Given the description of an element on the screen output the (x, y) to click on. 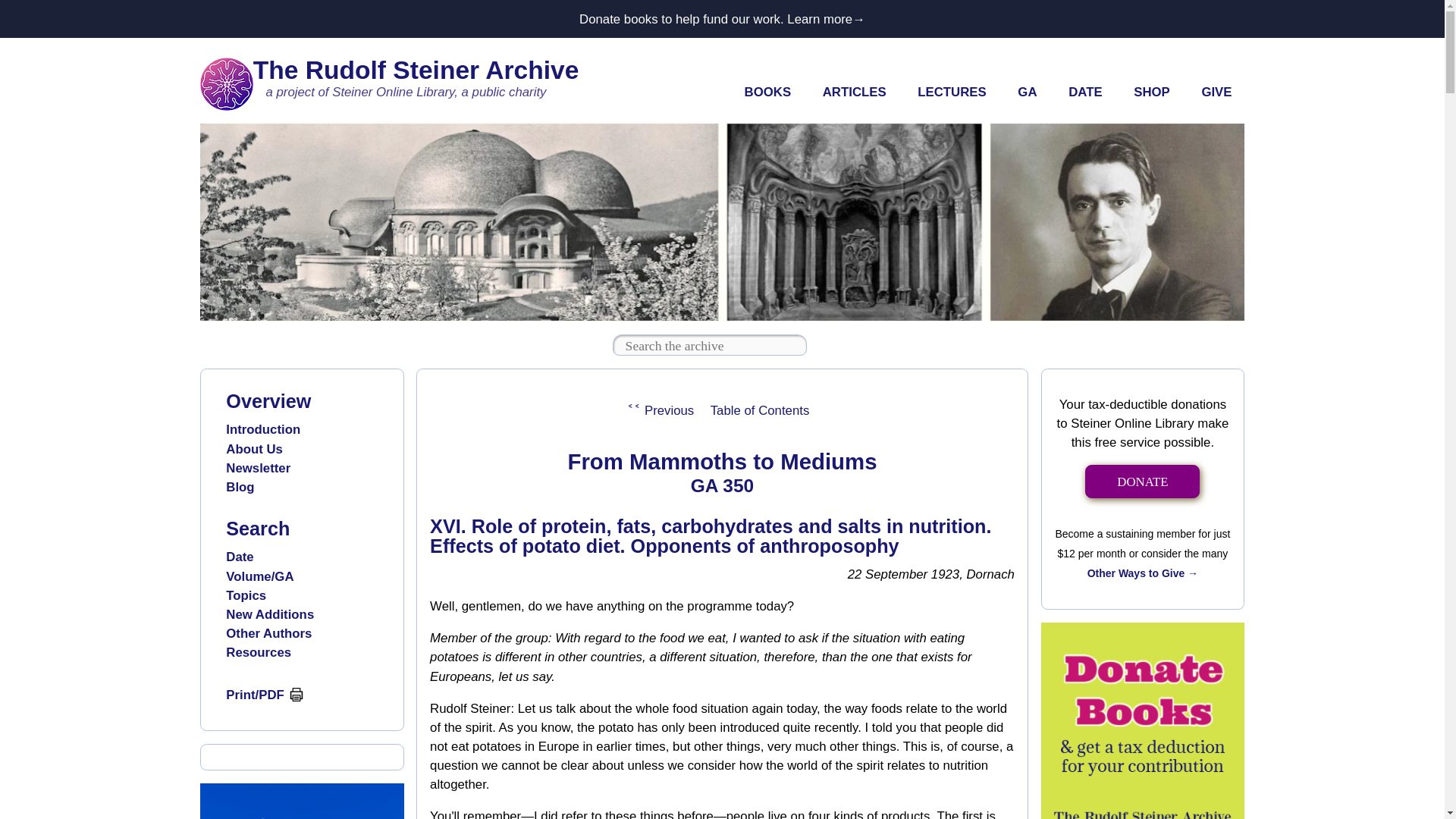
Table of Contents (759, 410)
The Rudolf Steiner Archive (416, 70)
New Additions (269, 614)
Resources (258, 652)
LECTURES (951, 92)
DATE (1085, 92)
GA (1027, 92)
DONATE (1141, 481)
BOOKS (767, 92)
Introduction (262, 429)
